Given the description of an element on the screen output the (x, y) to click on. 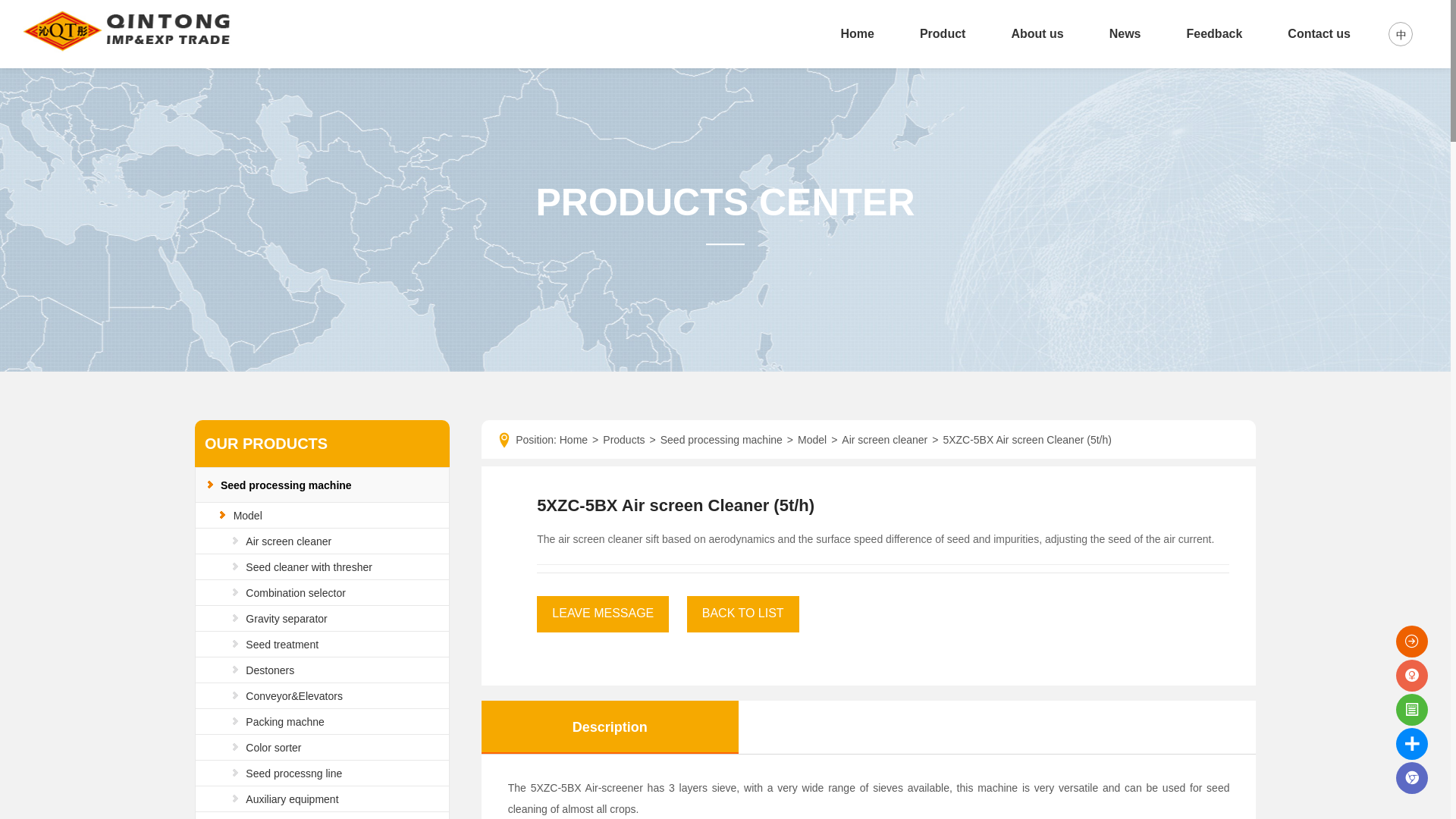
Model (247, 515)
Seed processng line (294, 773)
Seed processing machine (286, 485)
Combination selector (296, 592)
Packing machne (285, 721)
Contact us (1319, 33)
Auxiliary equipment (291, 799)
Seed cleaner with thresher (309, 567)
Gravity separator (286, 618)
Seed treatment (282, 644)
Air screen cleaner (288, 541)
Destoners (270, 670)
Color sorter (273, 747)
